Given the description of an element on the screen output the (x, y) to click on. 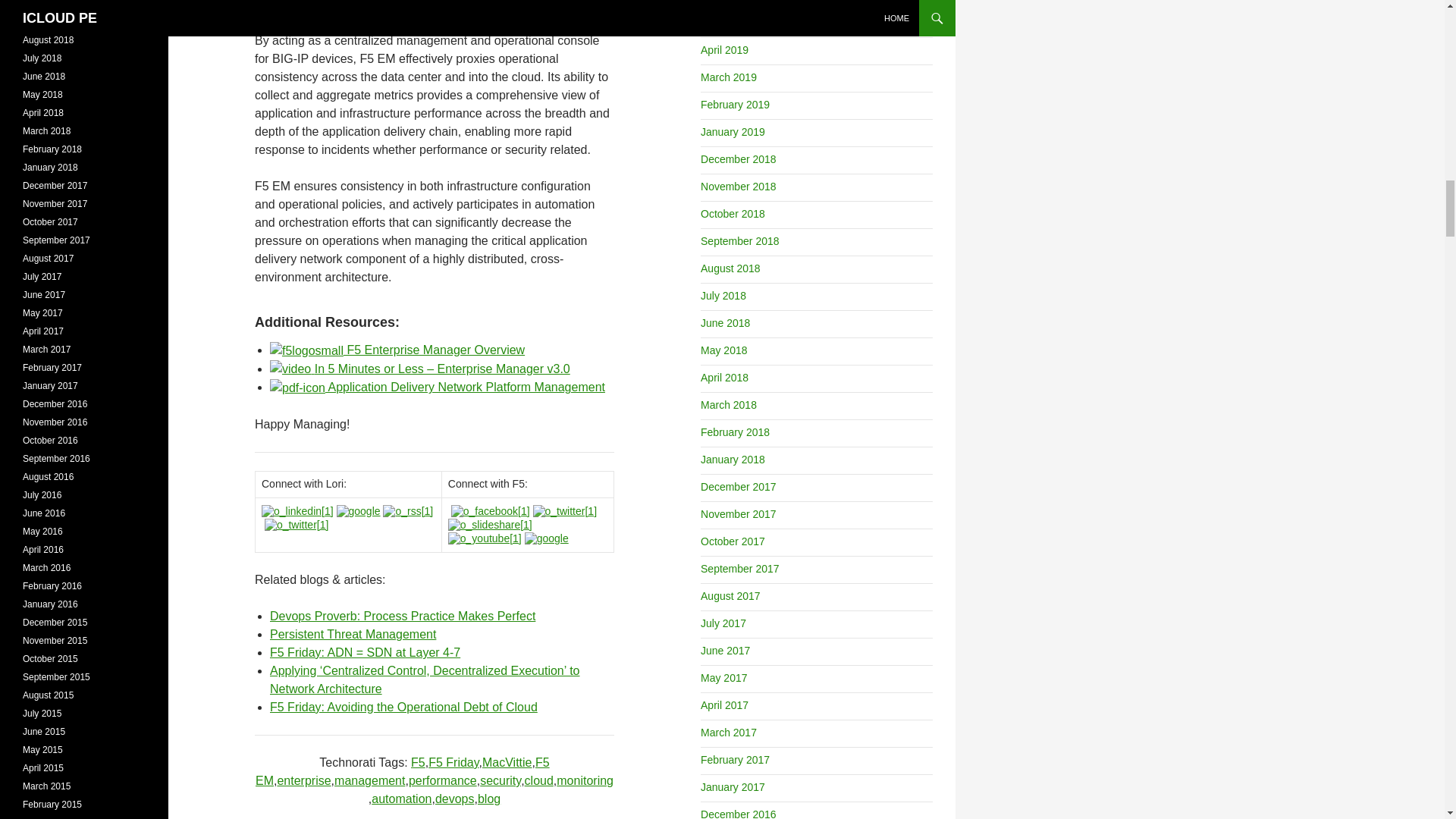
pdf-icon (296, 388)
F5 Friday: Avoiding the Operational Debt of Cloud (403, 707)
F5 (417, 762)
F5 Enterprise Manager Overview (396, 349)
MacVittie (506, 762)
f5logosmall (306, 351)
enterprise (303, 780)
video (290, 369)
performance (443, 780)
google  (358, 511)
security (500, 780)
cloud (538, 780)
Persistent Threat Management (352, 634)
F5 EM (403, 771)
